Given the description of an element on the screen output the (x, y) to click on. 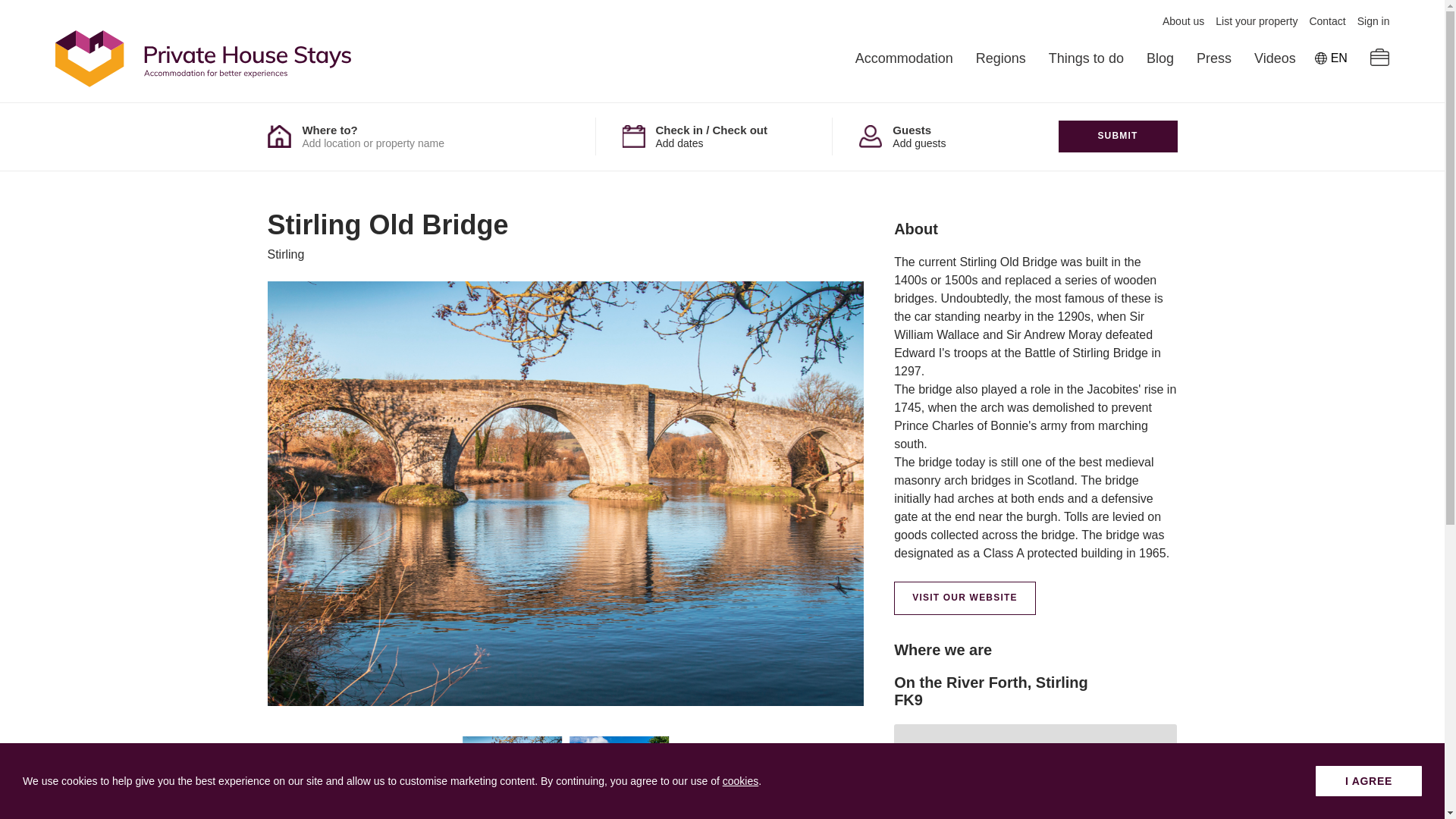
Contact (1326, 21)
View cart (1380, 58)
Regions (1000, 58)
Press (1213, 58)
EN (1331, 58)
About us (1182, 21)
Accommodation (904, 58)
Blog (1160, 58)
List your property (1256, 21)
Things to do (1086, 58)
Videos (1274, 58)
Sign in (1373, 21)
